Given the description of an element on the screen output the (x, y) to click on. 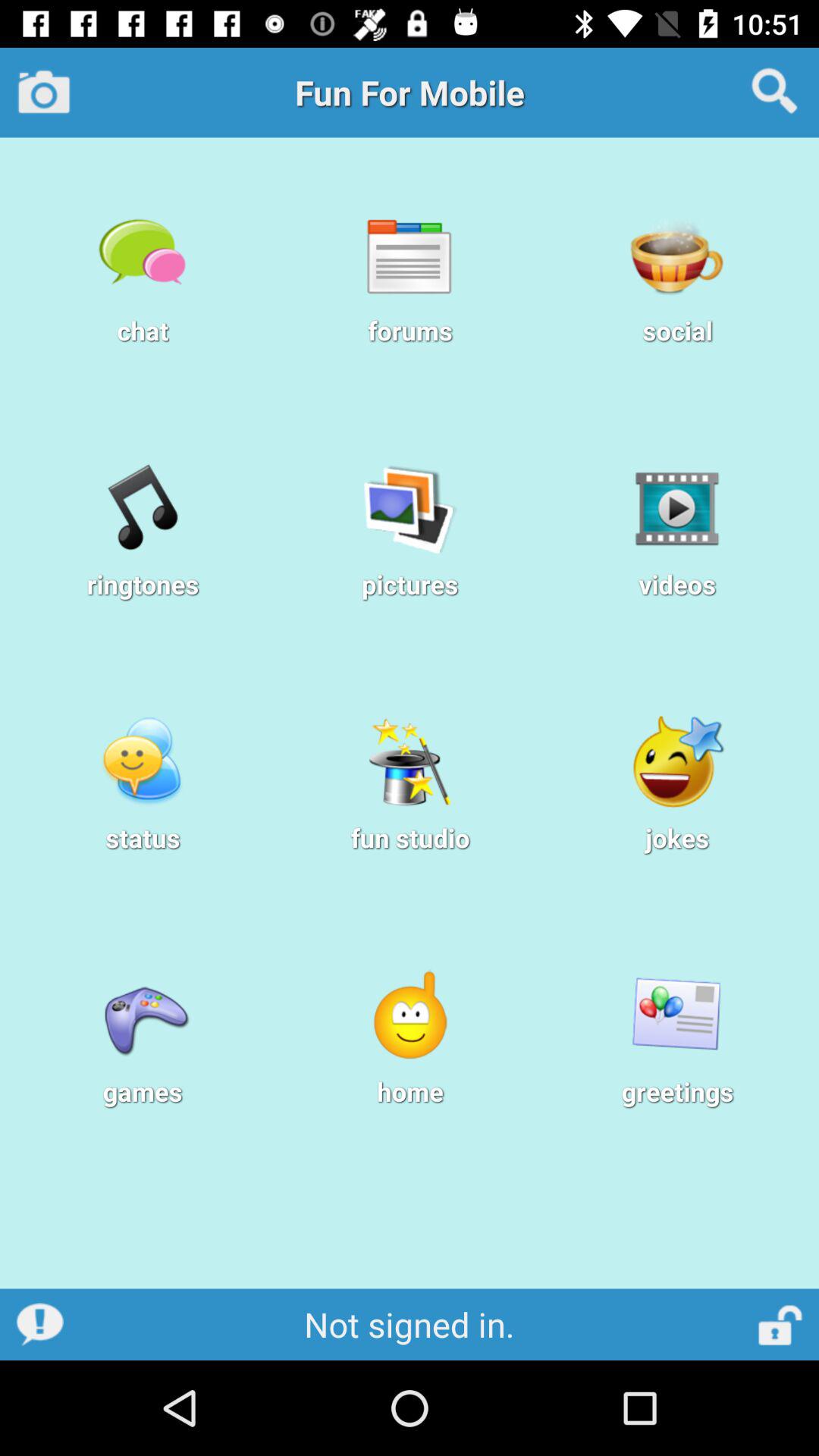
select greetings icon on the right side of the page (676, 1016)
click on the camera icon (43, 91)
go to top of forums (409, 254)
click on the option below ringtones (142, 761)
select the icon above the ringtones (142, 508)
click on videos below social option (676, 536)
